Given the description of an element on the screen output the (x, y) to click on. 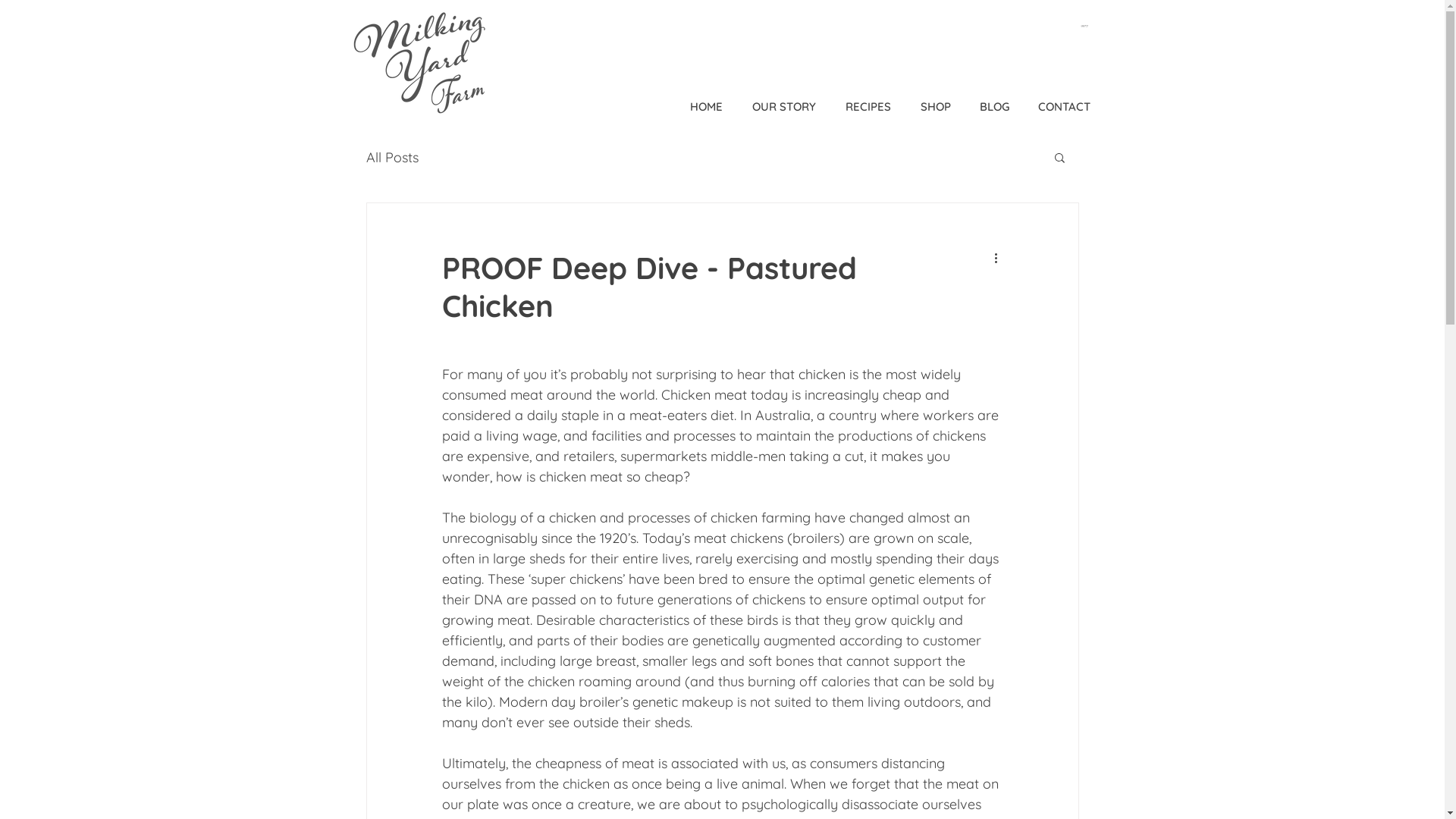
BLOG Element type: text (993, 106)
HOME Element type: text (705, 106)
CONTACT Element type: text (1063, 106)
Online Store Element type: hover (1324, 43)
All Posts Element type: text (391, 157)
